Given the description of an element on the screen output the (x, y) to click on. 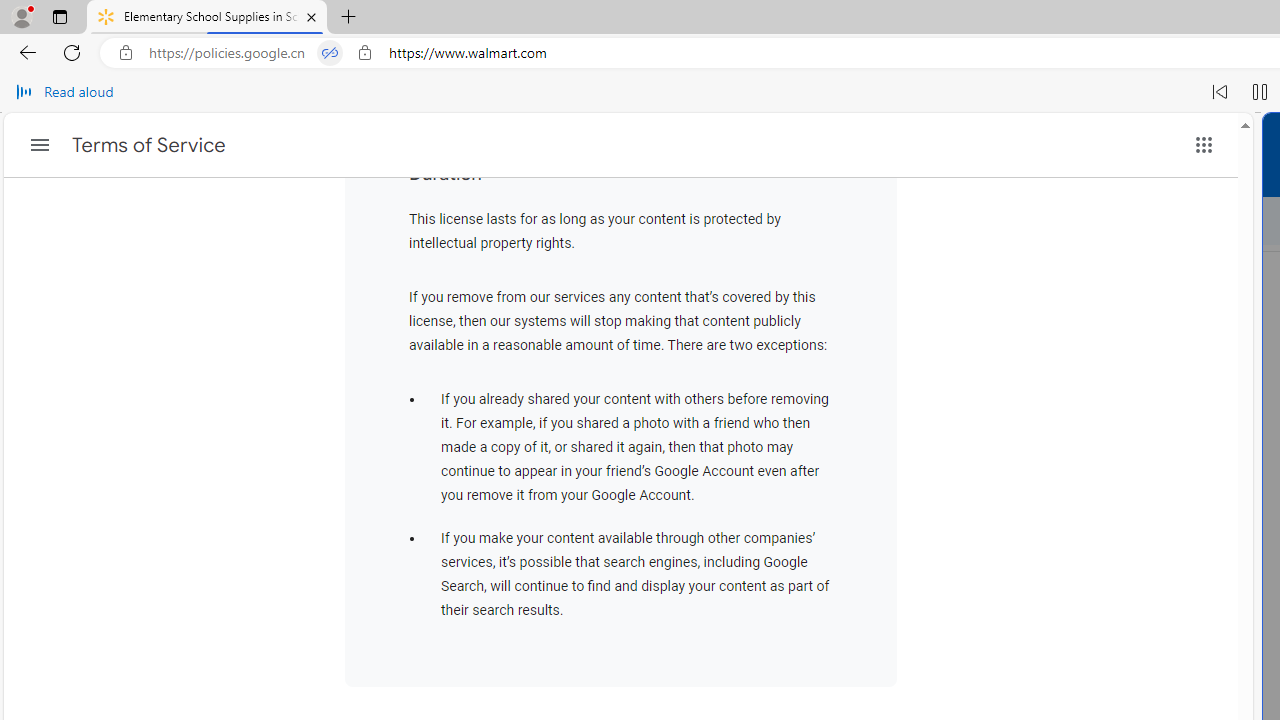
Read previous paragraph (1220, 92)
Pause read aloud (Ctrl+Shift+U) (1260, 92)
Tabs in split screen (330, 53)
